Given the description of an element on the screen output the (x, y) to click on. 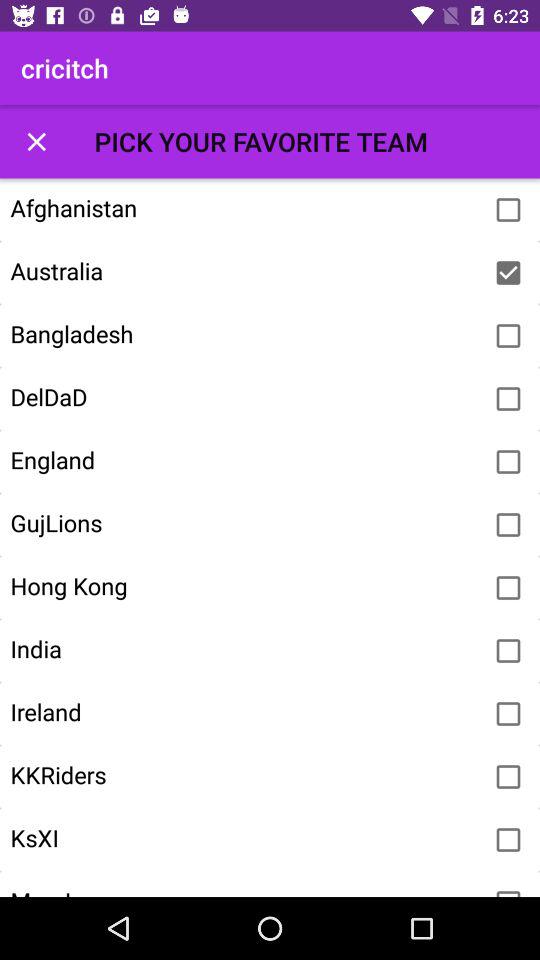
select england option (508, 462)
